Given the description of an element on the screen output the (x, y) to click on. 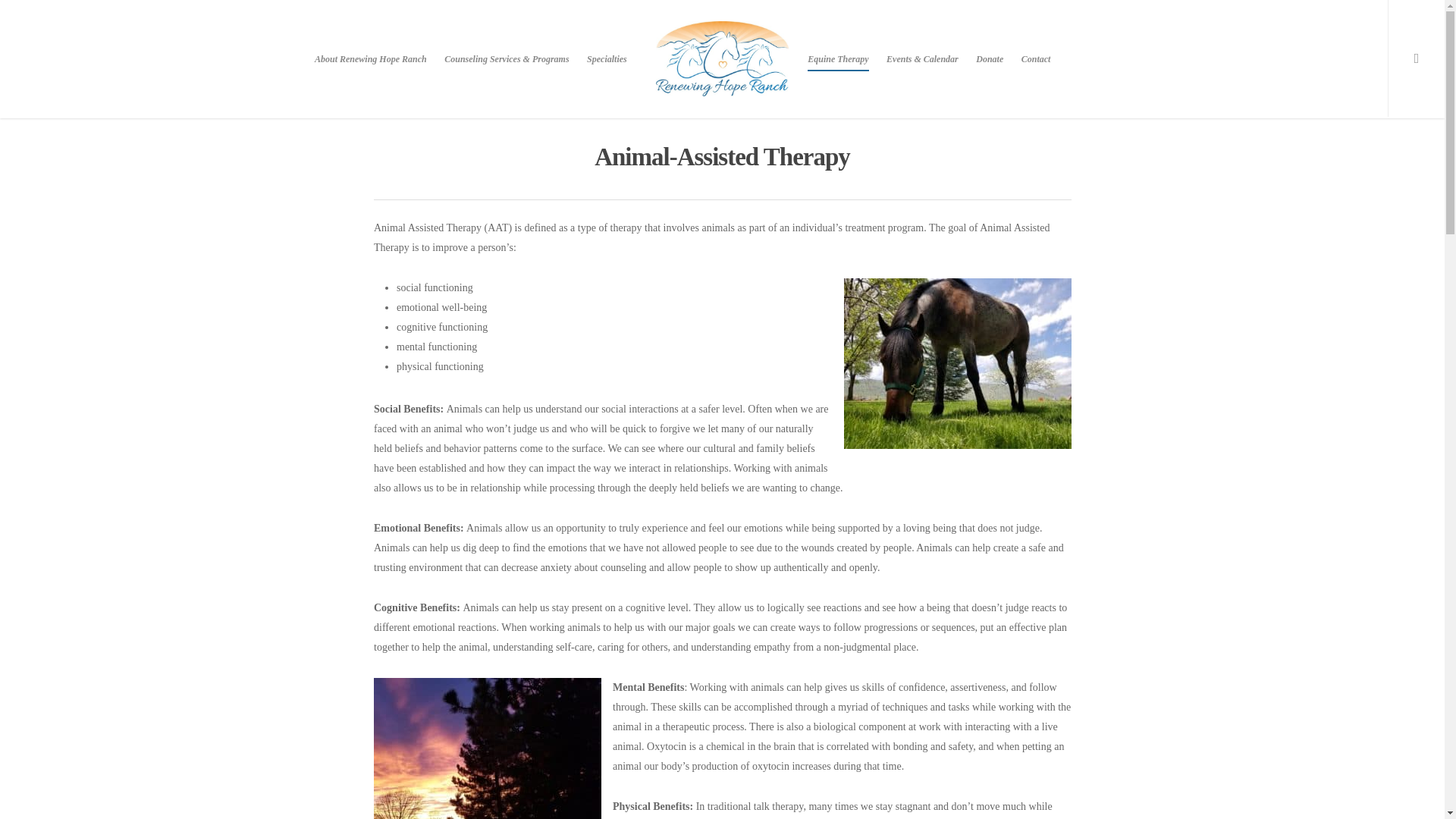
Contact (1036, 69)
About Renewing Hope Ranch (370, 69)
Specialties (606, 69)
Donate (989, 69)
Equine Therapy (837, 69)
